Given the description of an element on the screen output the (x, y) to click on. 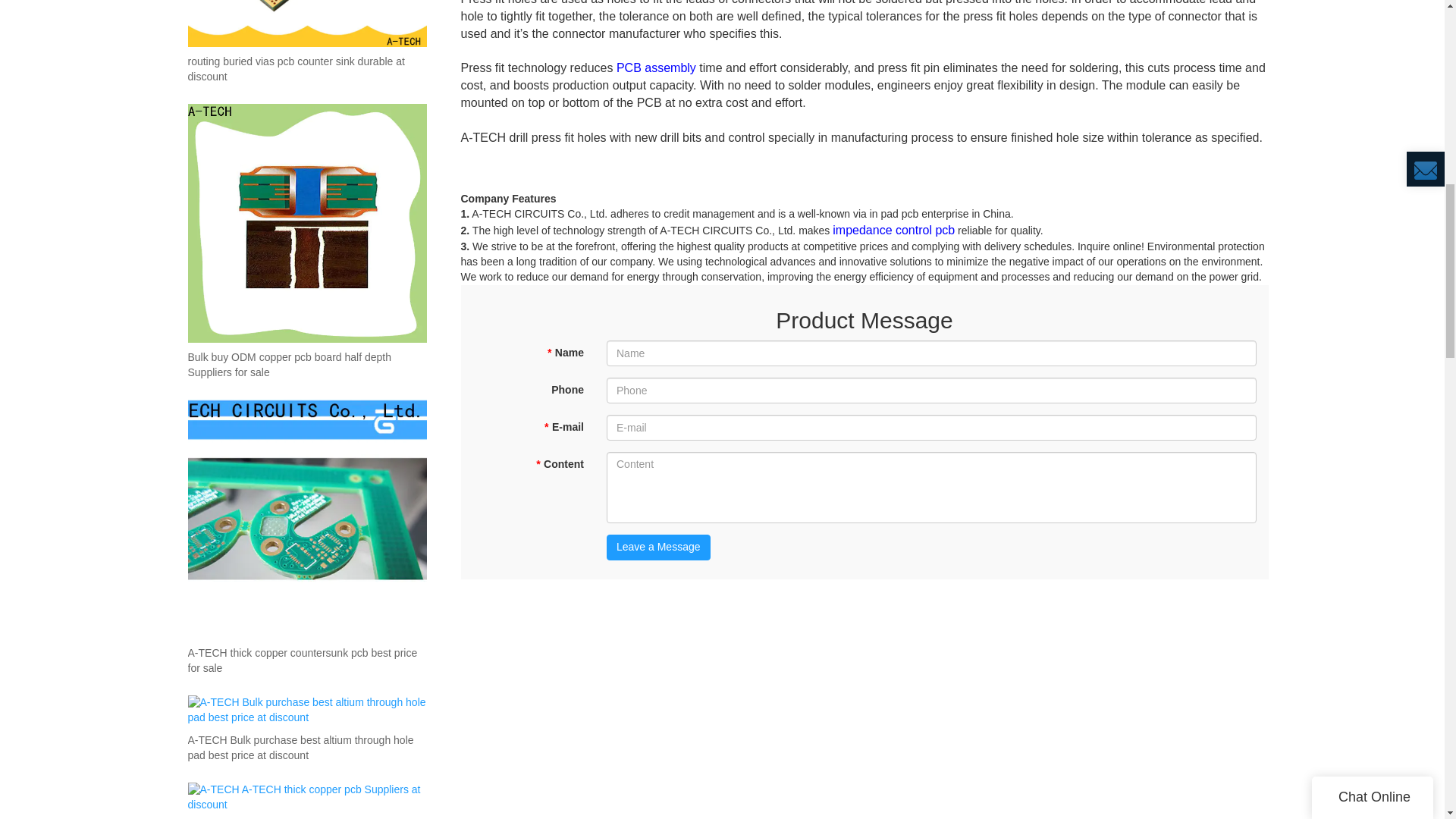
Bulk buy ODM copper pcb board half depth Suppliers for sale (306, 365)
A-TECH thick copper countersunk pcb best price for sale (306, 661)
routing buried vias pcb counter sink durable at discount (306, 69)
